Given the description of an element on the screen output the (x, y) to click on. 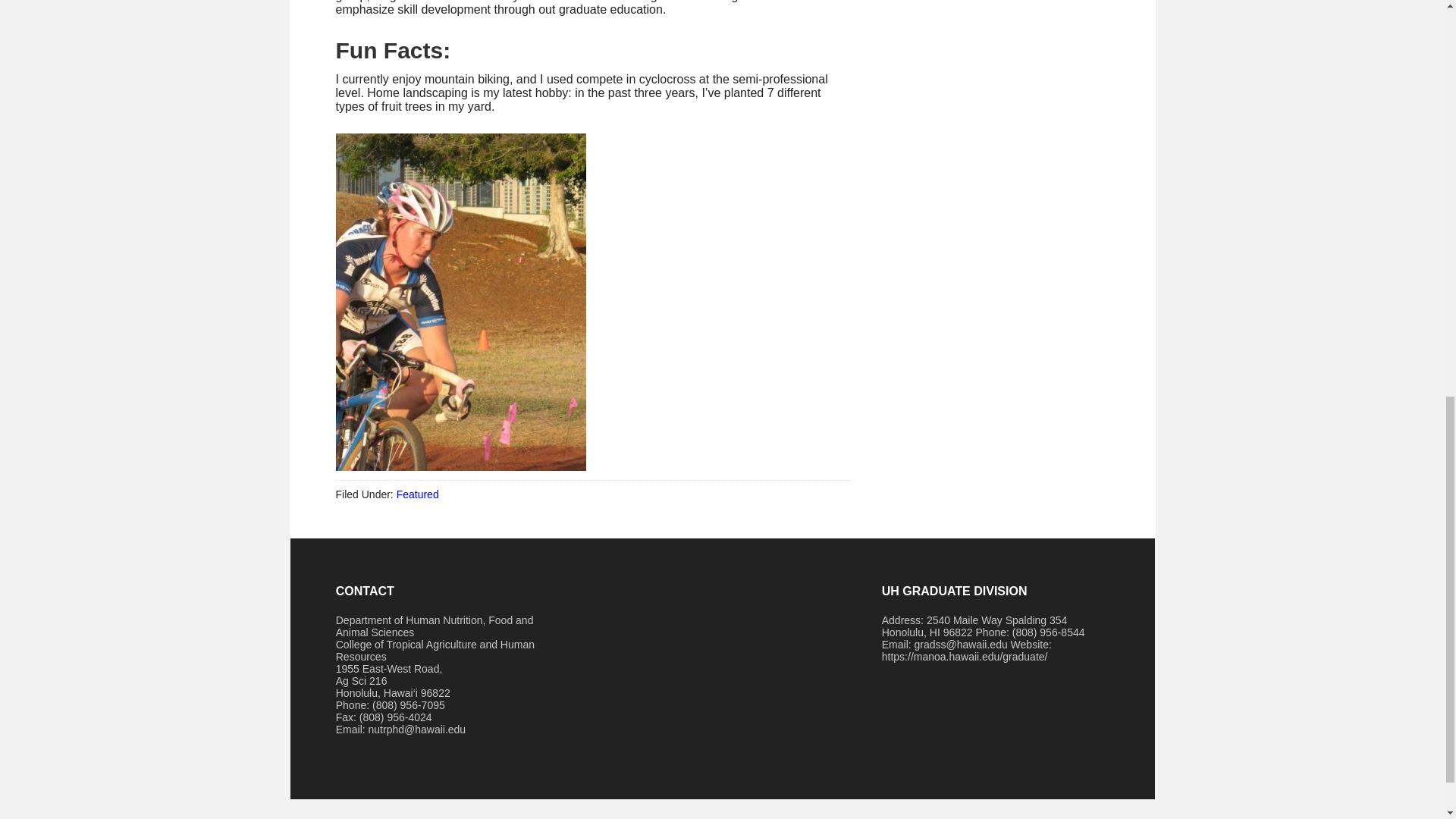
Featured (417, 494)
